Given the description of an element on the screen output the (x, y) to click on. 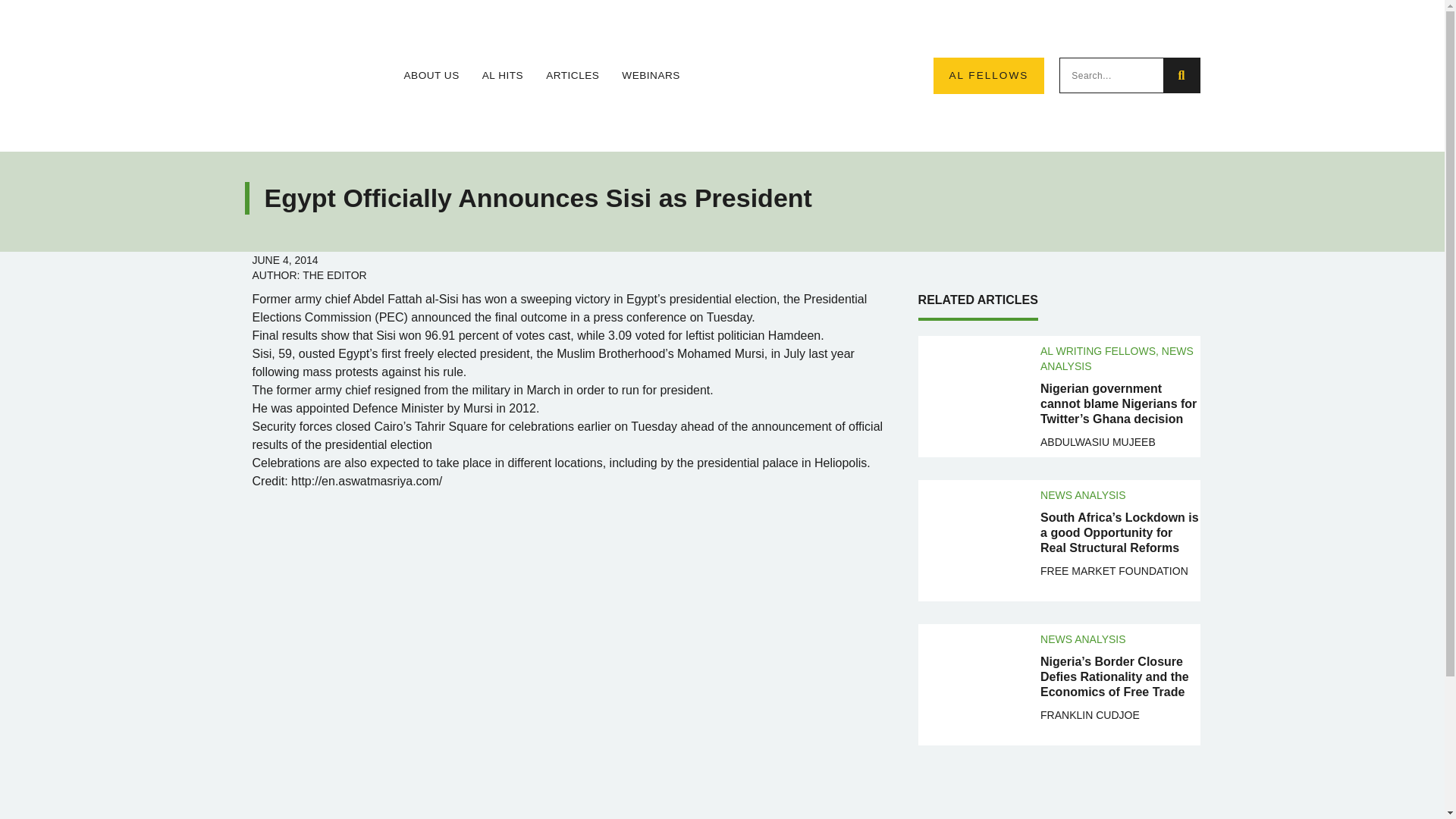
WEBINARS (650, 75)
AL WRITING FELLOWS (1098, 349)
AL FELLOWS (988, 75)
JUNE 4, 2014 (284, 258)
ABOUT US (430, 75)
AL HITS (501, 75)
ARTICLES (572, 75)
AUTHOR: THE EDITOR (308, 273)
